Given the description of an element on the screen output the (x, y) to click on. 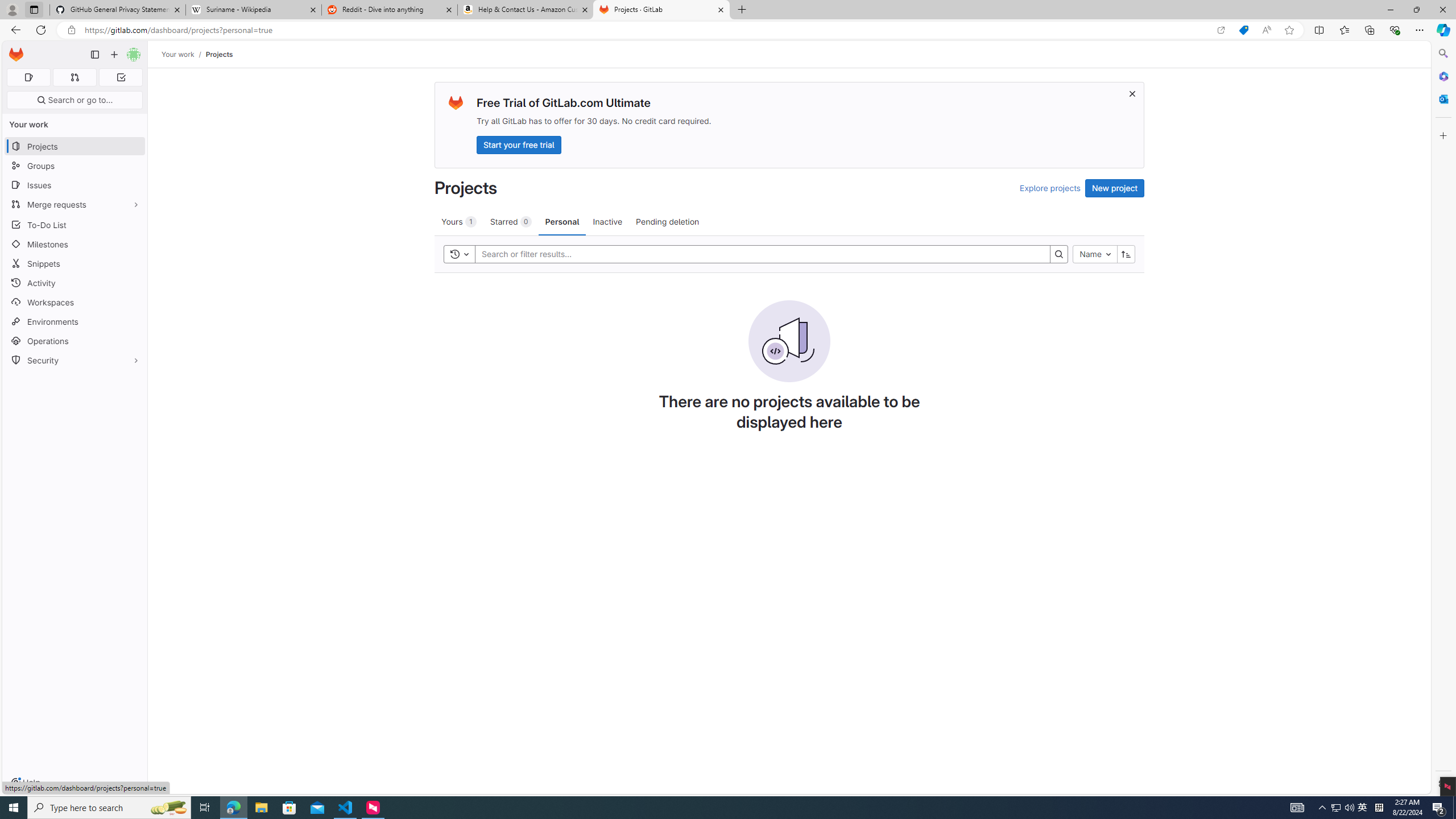
Class: s16 gl-icon gl-button-icon  (1132, 93)
Yours 1 (458, 221)
Personal (562, 221)
Skip to main content (13, 49)
Pending deletion (667, 221)
GitHub General Privacy Statement - GitHub Docs (117, 9)
Name (1095, 253)
Security (74, 359)
Milestones (74, 244)
